Given the description of an element on the screen output the (x, y) to click on. 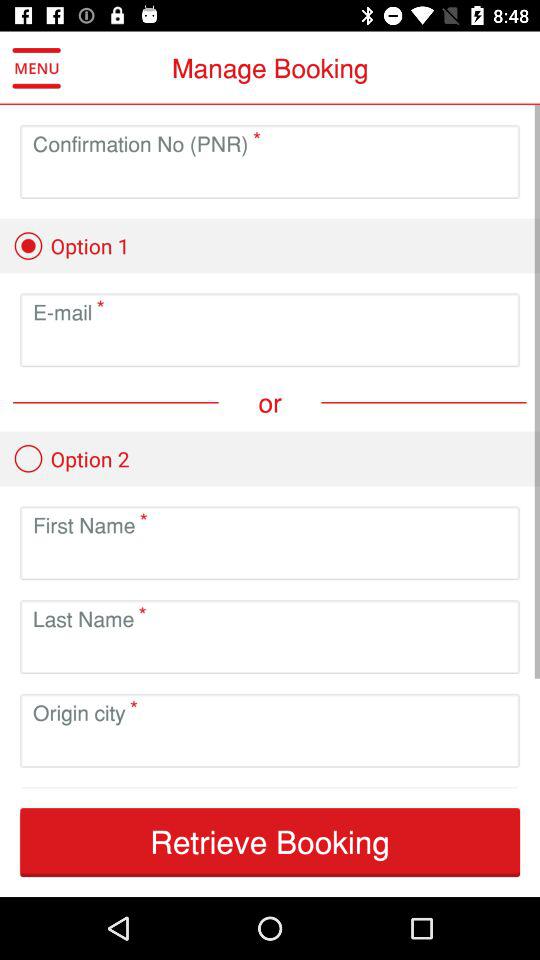
tap the icon above first name (71, 458)
